Given the description of an element on the screen output the (x, y) to click on. 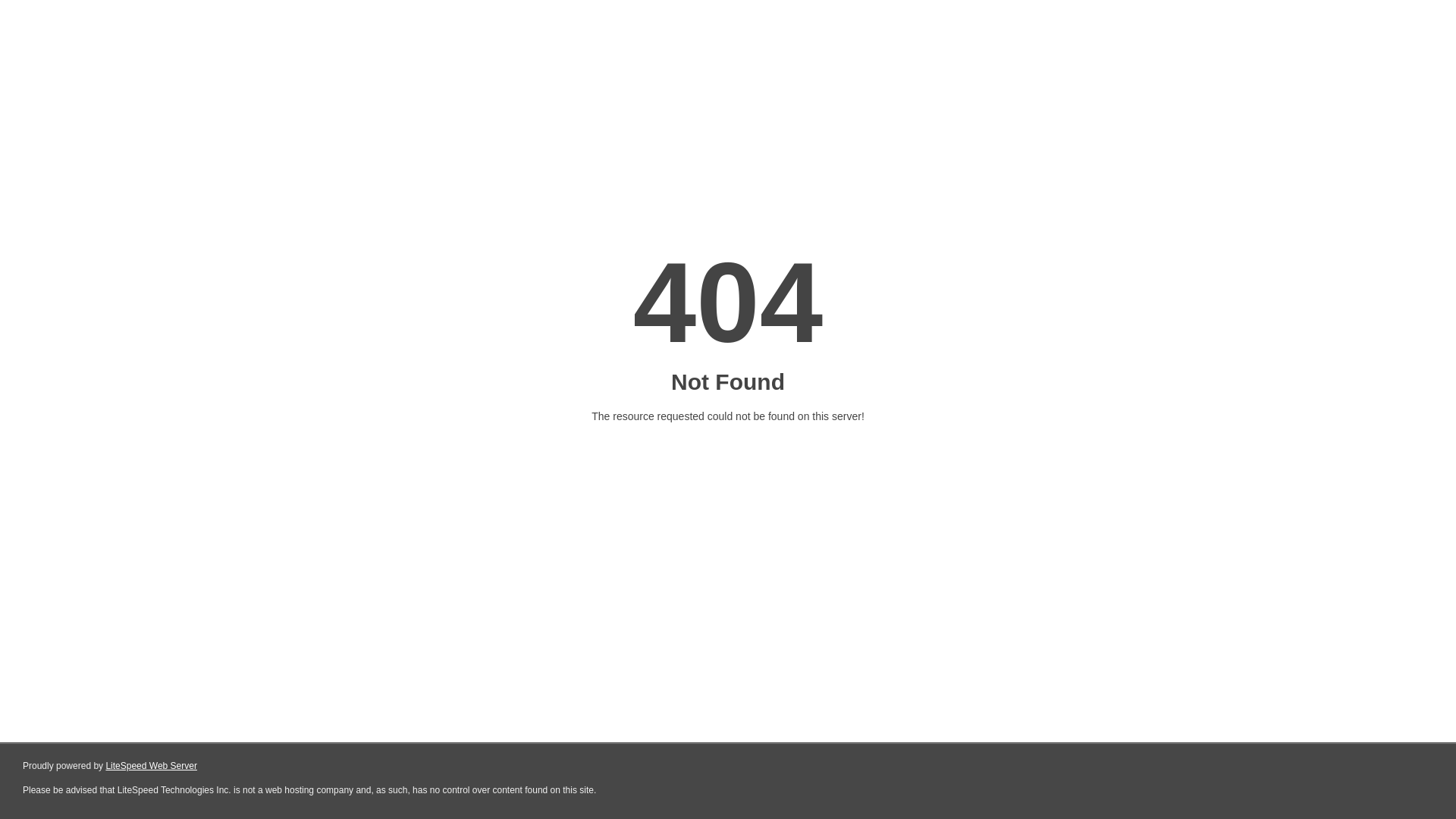
LiteSpeed Web Server (150, 765)
